Given the description of an element on the screen output the (x, y) to click on. 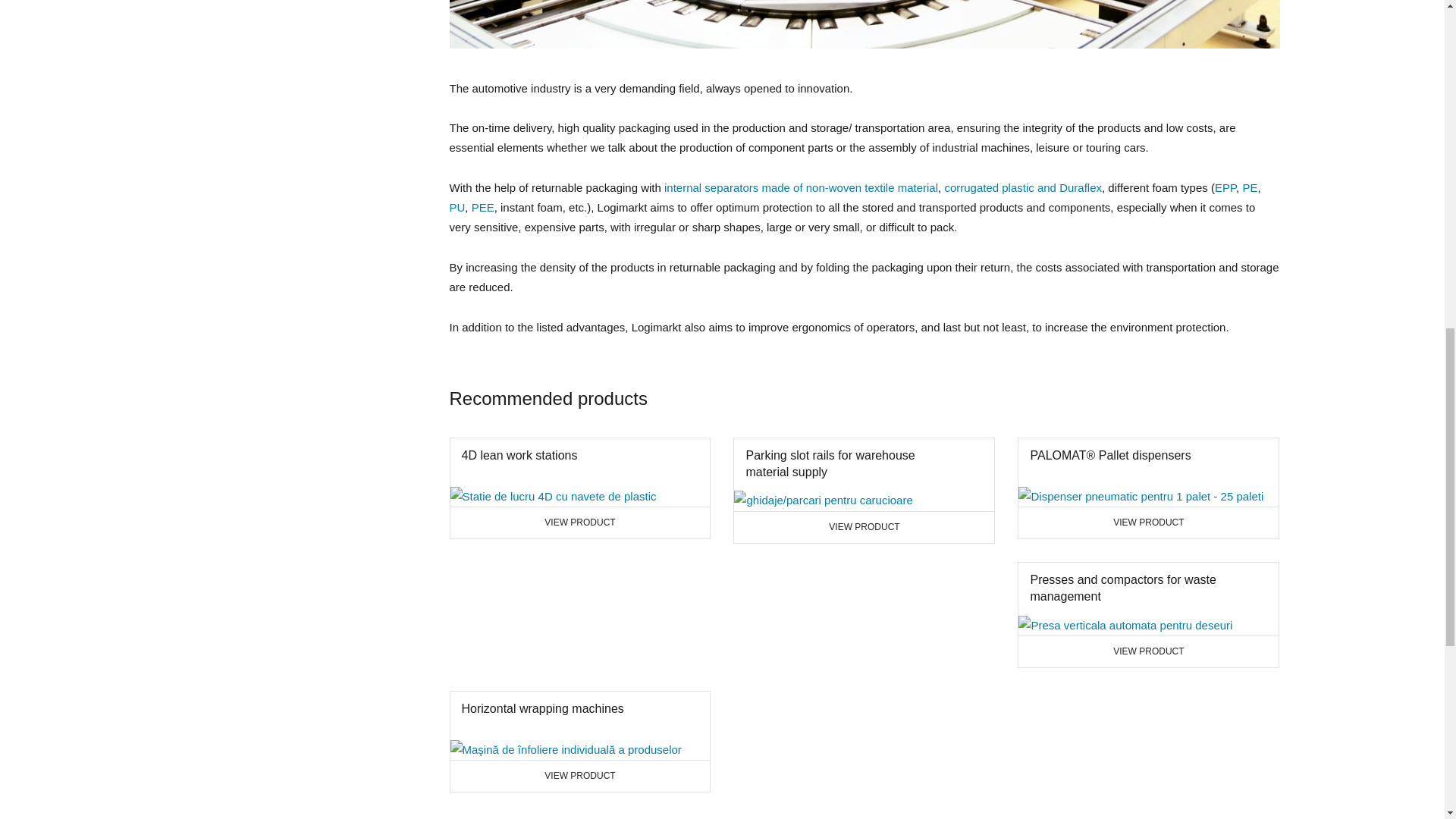
PU (579, 487)
internal separators made of non-woven textile material (579, 741)
Presa verticala automata pentru deseuri (456, 206)
PE (800, 187)
Statie de lucru 4D cu navete de plastic (1124, 625)
Ghidaje pentru carucioare (1249, 187)
EPP (552, 496)
